Given the description of an element on the screen output the (x, y) to click on. 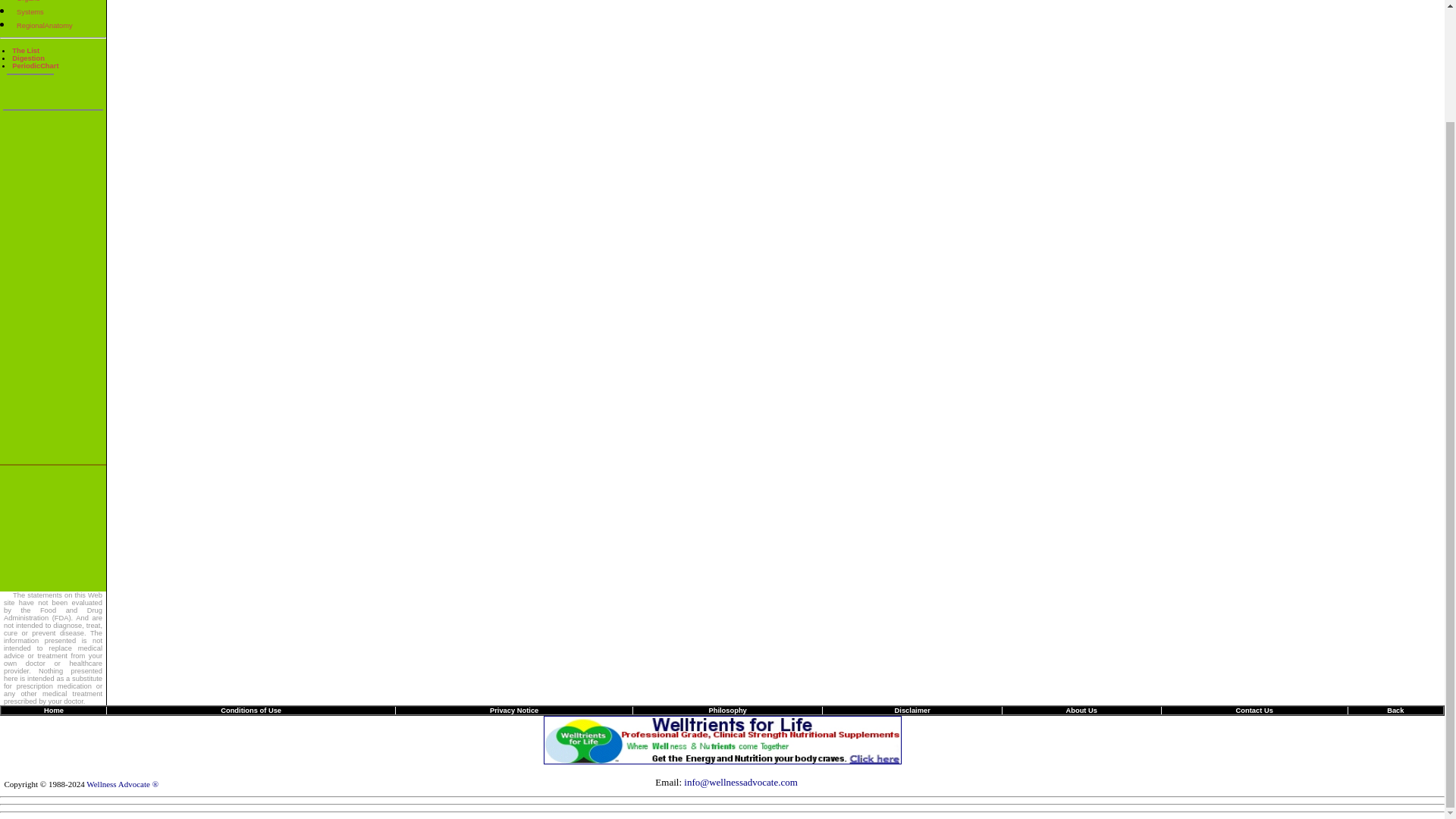
Systems (29, 11)
RegionalAnatomy (44, 25)
Systems (29, 11)
 Conditions of Use  (251, 710)
 Privacy Notice  (513, 710)
 About Us  (1081, 710)
 Disclaimer  (911, 710)
 Philosophy  (727, 710)
The List (25, 50)
Organs (28, 1)
Digestion (28, 58)
RegionalAnatomy (44, 25)
 Home  (53, 710)
Organs (28, 1)
 Contact Us  (1254, 710)
